Given the description of an element on the screen output the (x, y) to click on. 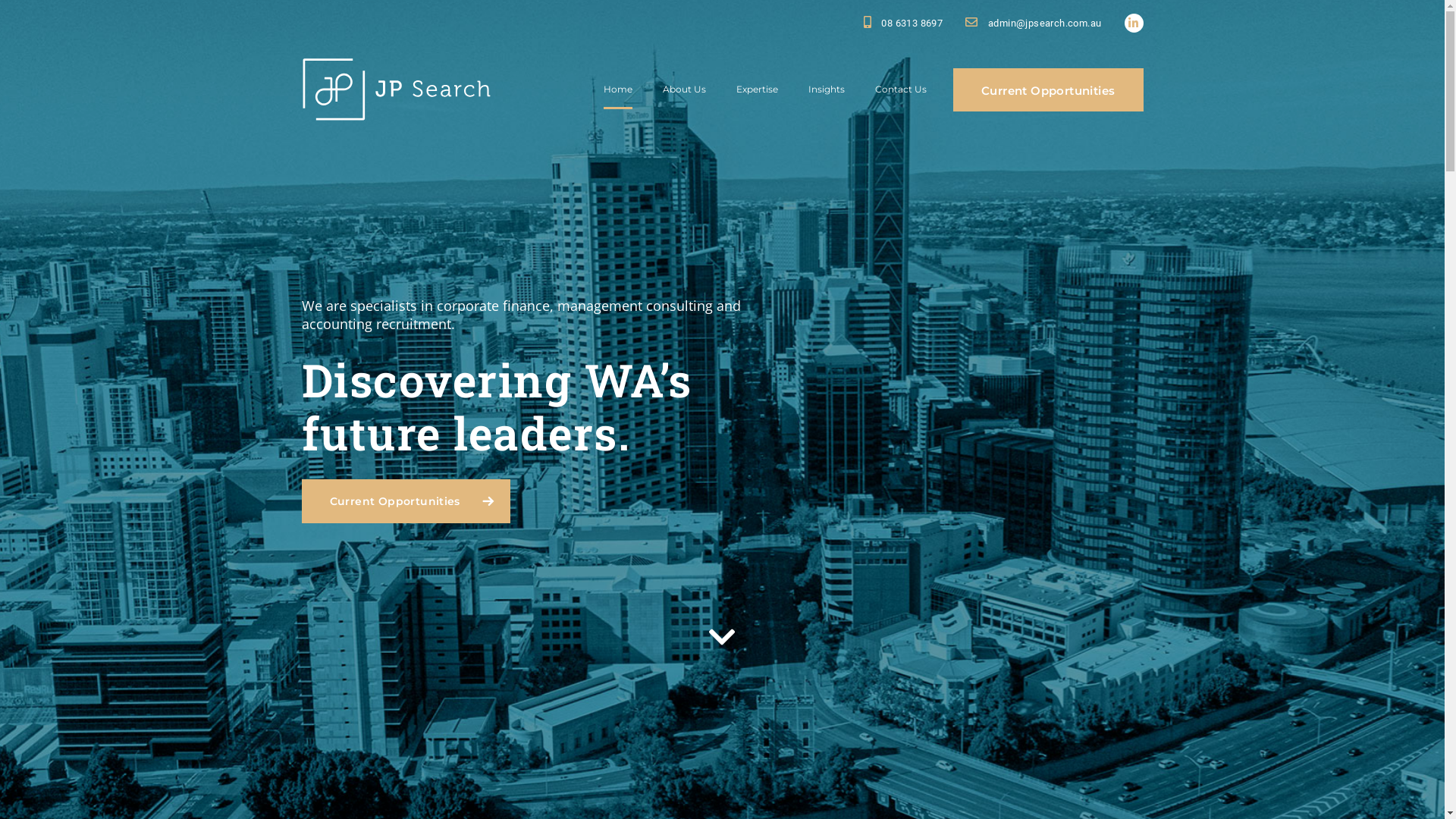
Contact Us Element type: text (900, 89)
Home Element type: text (617, 89)
Insights Element type: text (826, 89)
Current Opportunities Element type: text (1047, 89)
Current Opportunities Element type: text (405, 501)
About Us Element type: text (684, 89)
Expertise Element type: text (757, 89)
